Given the description of an element on the screen output the (x, y) to click on. 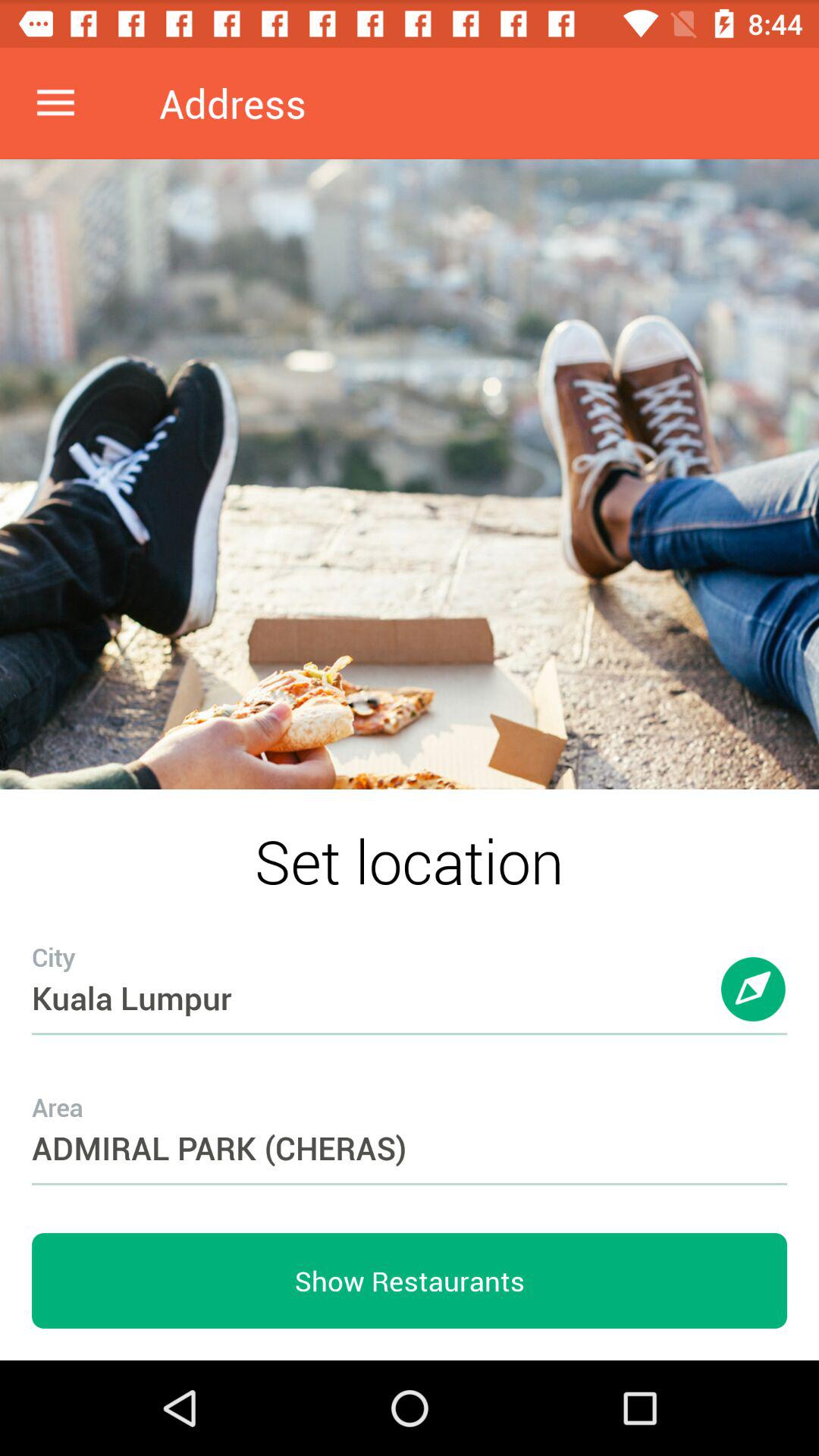
select icon below the set location icon (409, 967)
